Given the description of an element on the screen output the (x, y) to click on. 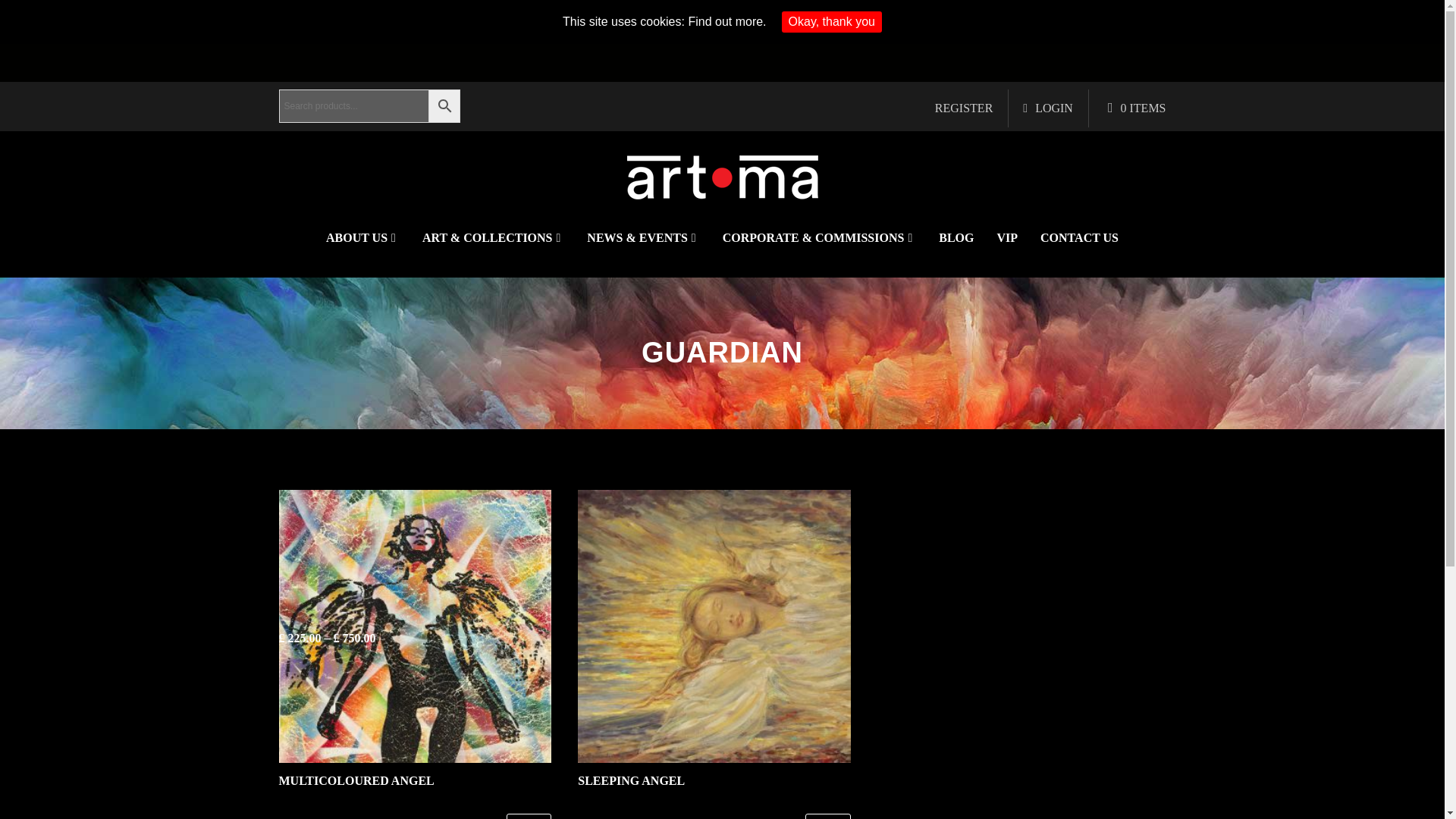
REGISTER (961, 107)
CONTACT US (1079, 237)
0 ITEMS (1141, 107)
VIP (1006, 237)
BUY (528, 816)
LOGIN (1051, 107)
ABOUT US (362, 237)
BLOG (956, 237)
View your shopping cart (1141, 107)
